Given the description of an element on the screen output the (x, y) to click on. 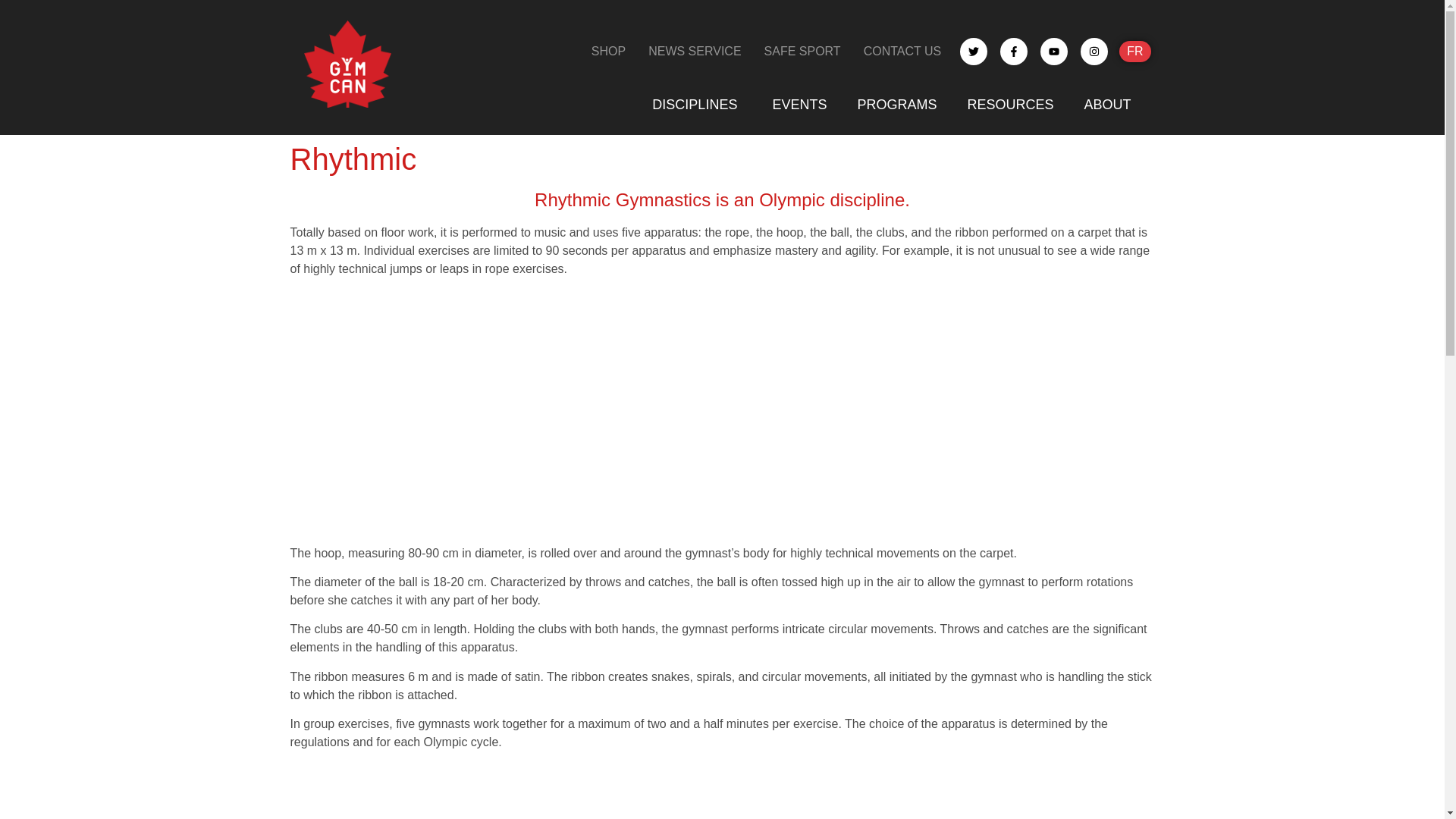
CONTACT US (902, 51)
SHOP (608, 51)
EVENTS (799, 104)
ABOUT (1109, 104)
PROGRAMS (896, 104)
DISCIPLINES (697, 104)
RESOURCES (1010, 104)
NEWS SERVICE (694, 51)
SAFE SPORT (802, 51)
FR (1134, 51)
